Given the description of an element on the screen output the (x, y) to click on. 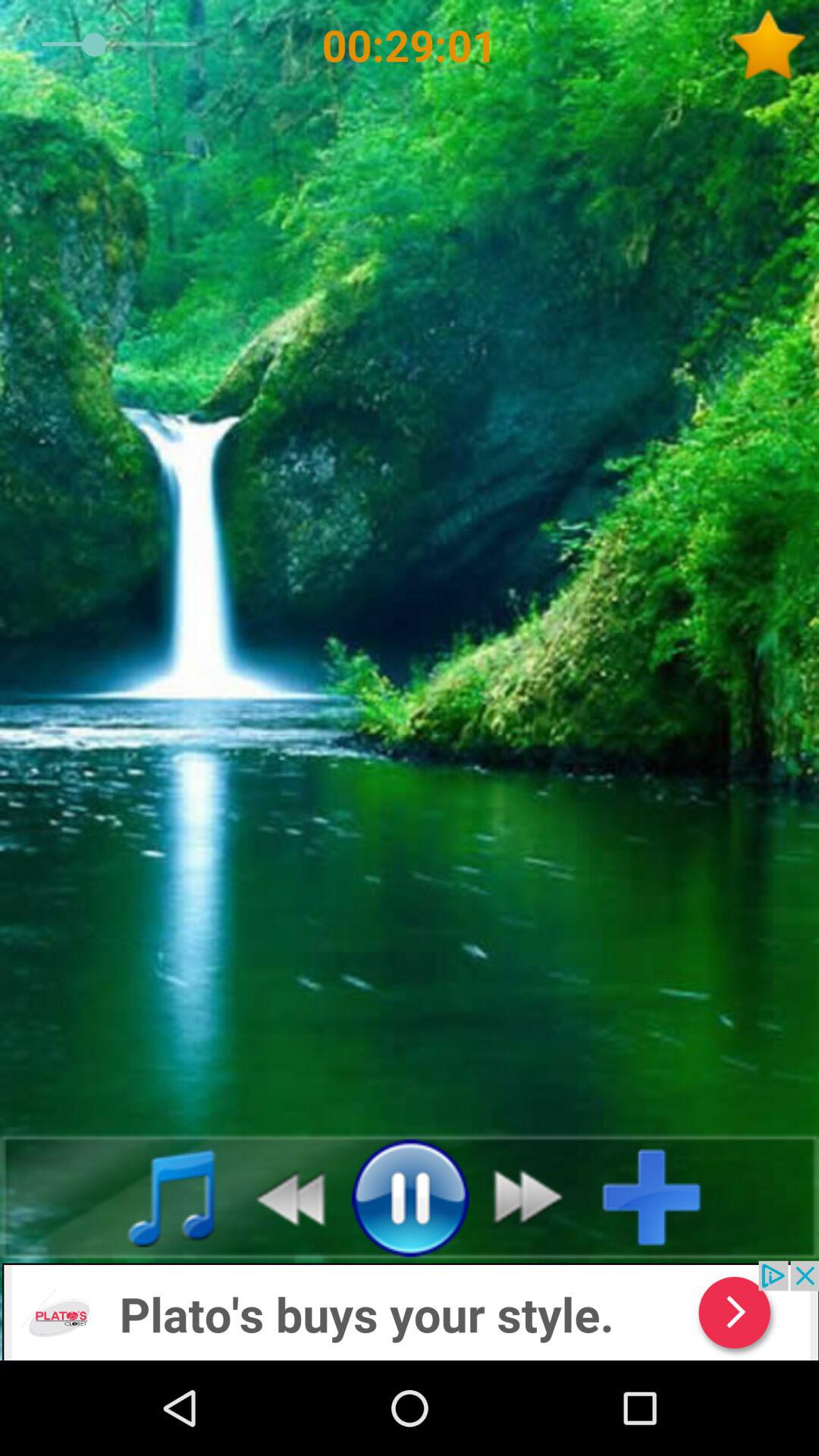
show advertisements detail (409, 1310)
